Given the description of an element on the screen output the (x, y) to click on. 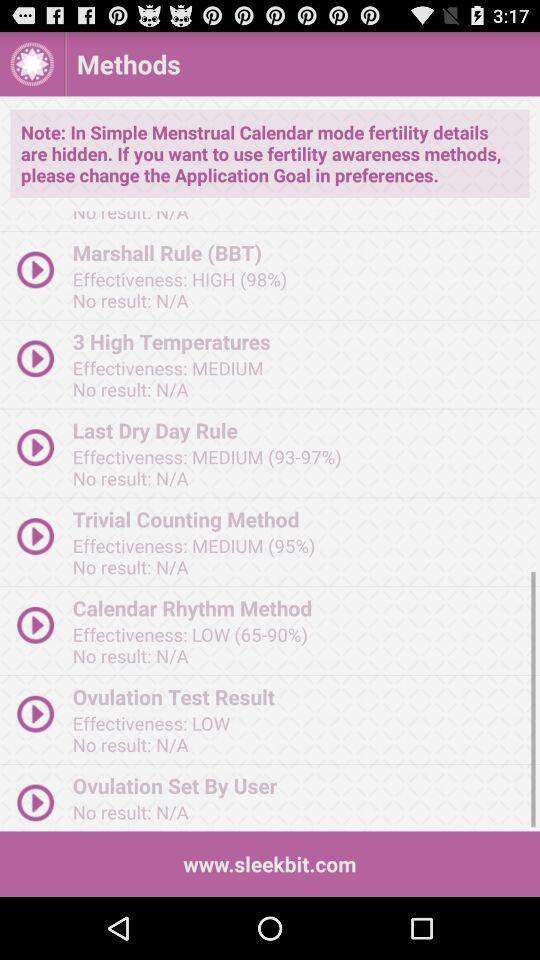
select the option trivial counting method on the page (299, 518)
